Given the description of an element on the screen output the (x, y) to click on. 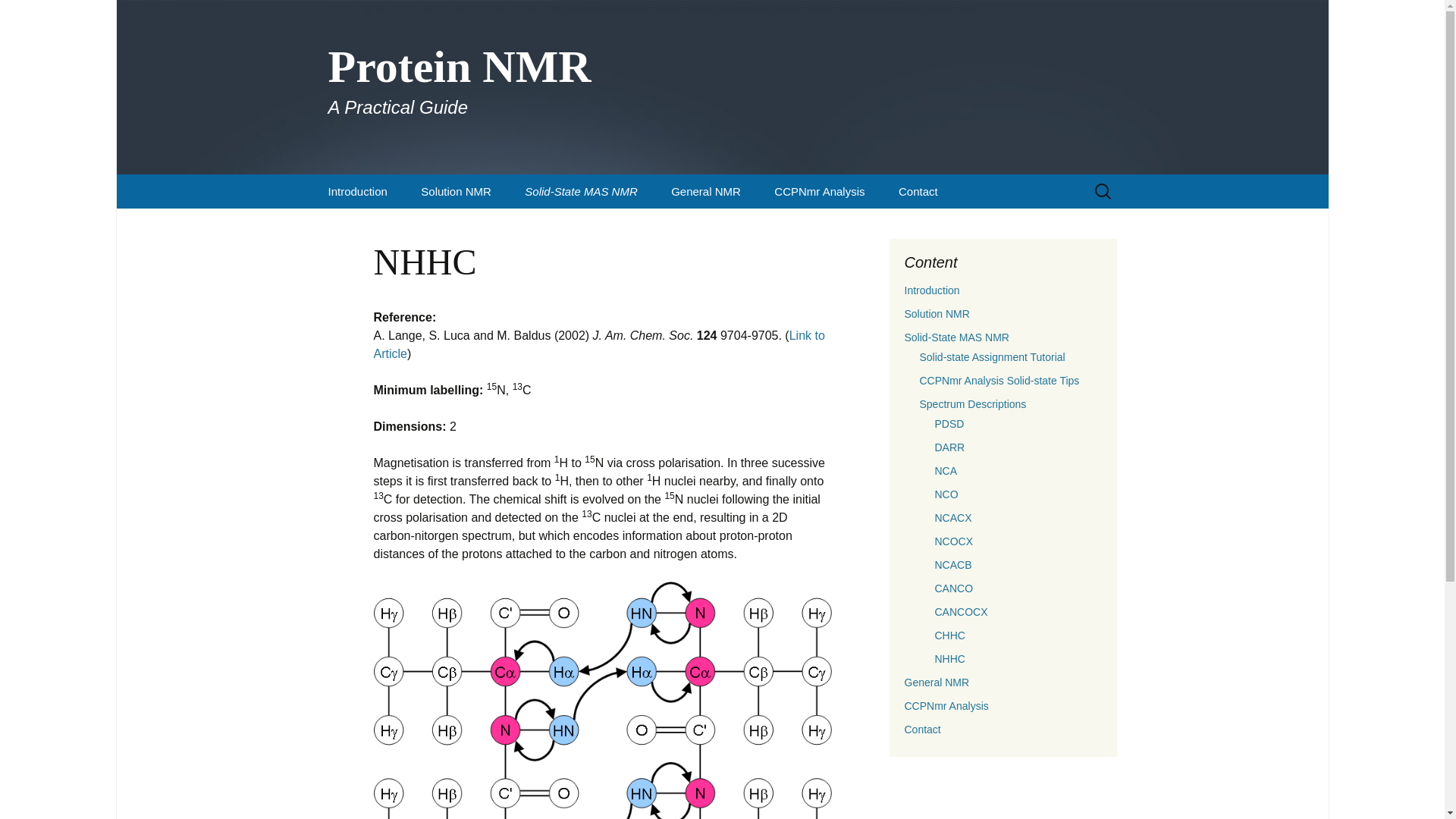
Assignment Theory (357, 191)
Skip to content (481, 226)
